Given the description of an element on the screen output the (x, y) to click on. 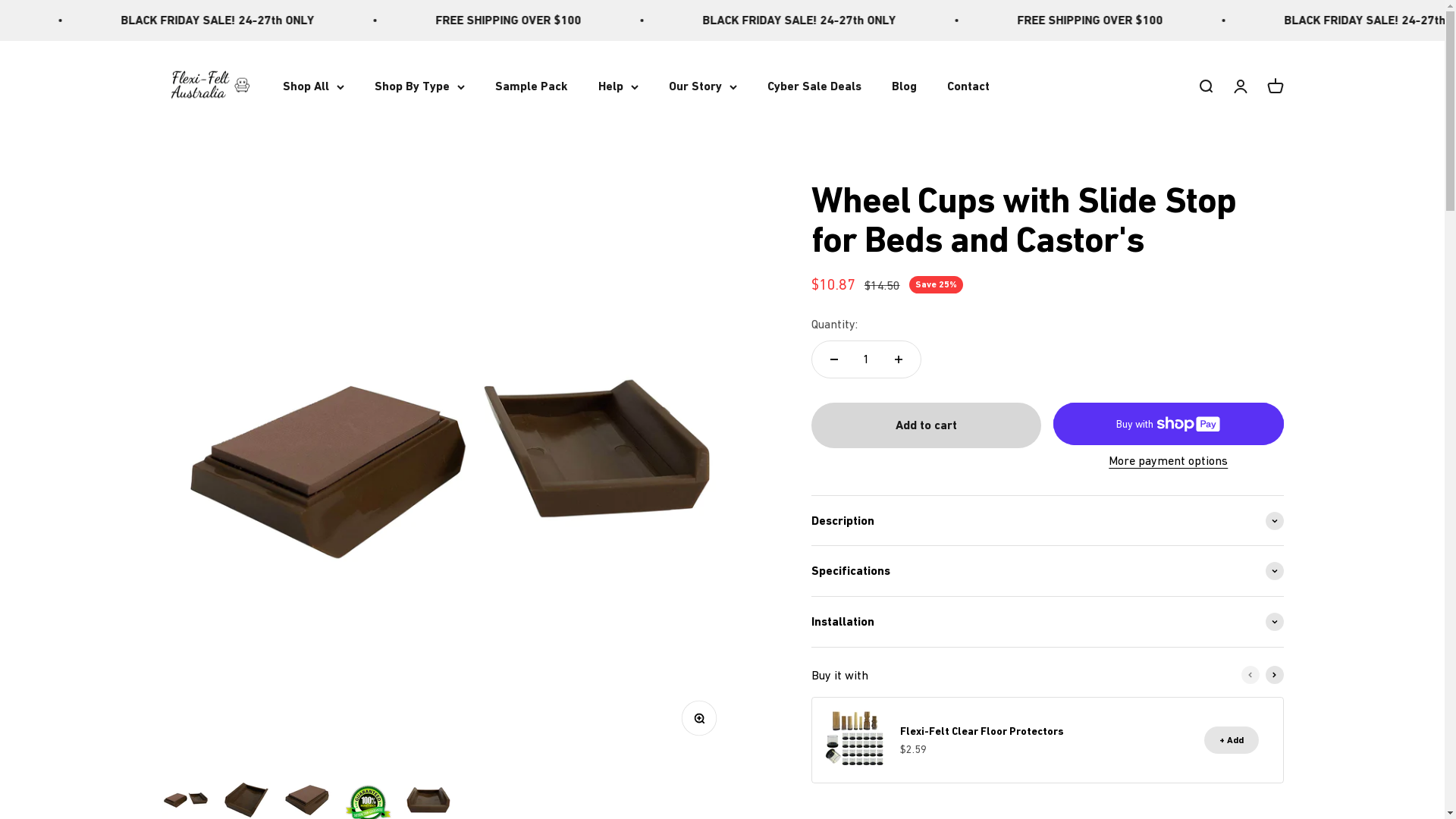
Zoom Element type: text (702, 721)
Cyber Sale Deals Element type: text (814, 85)
Flexi-Felt Australia Element type: text (205, 86)
Open cart
0 Element type: text (1274, 86)
Flexi-Felt Clear Floor Protectors Element type: text (981, 730)
Open account page Element type: text (1239, 86)
+ Add Element type: text (1231, 739)
Open search Element type: text (1204, 86)
Blog Element type: text (903, 85)
More payment options Element type: text (1168, 460)
Add to cart Element type: text (926, 425)
Contact Element type: text (967, 85)
Sample Pack Element type: text (530, 85)
